Given the description of an element on the screen output the (x, y) to click on. 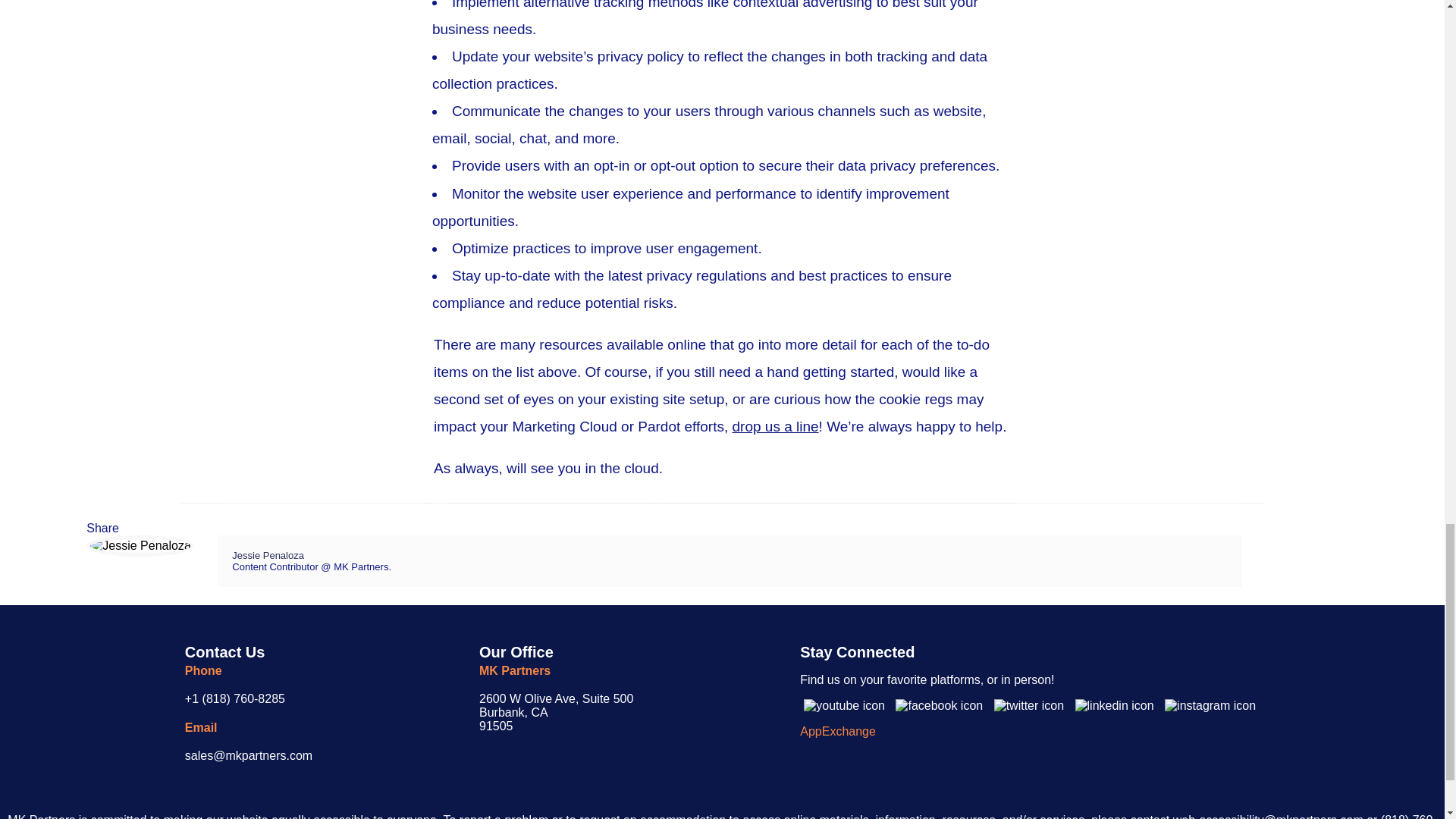
Jessie Penaloza (267, 555)
drop us a line (775, 426)
AppExchange (556, 712)
